Given the description of an element on the screen output the (x, y) to click on. 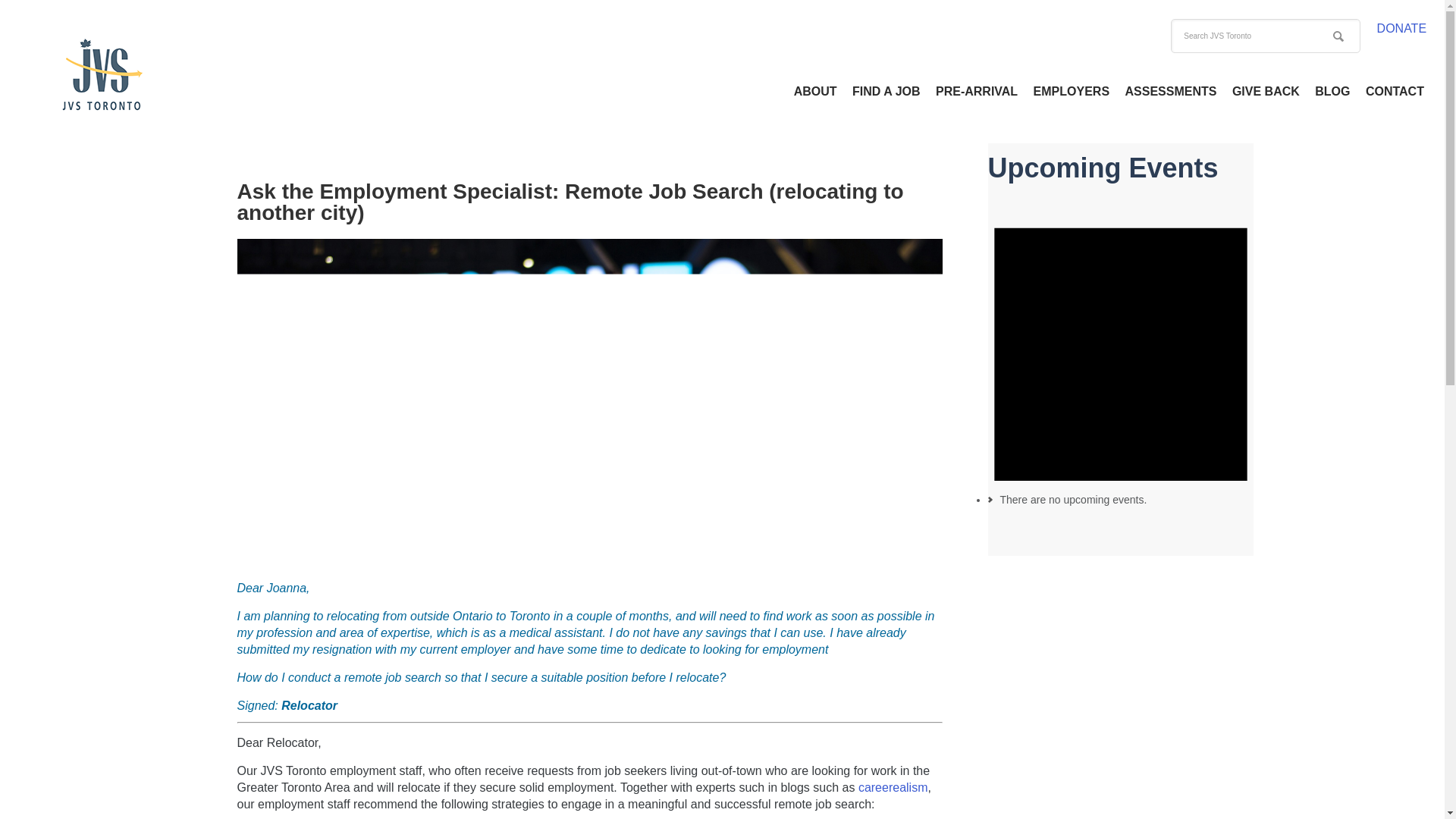
GIVE BACK (1265, 91)
BLOG (1331, 91)
JVS Toronto (101, 74)
CONTACT (1394, 91)
FIND A JOB (885, 91)
ABOUT (815, 91)
careerealism (893, 787)
PRE-ARRIVAL (976, 91)
ASSESSMENTS (1171, 91)
DONATE (1401, 28)
CAREEREALISM: Remote Job Search (893, 787)
EMPLOYERS (1071, 91)
